Given the description of an element on the screen output the (x, y) to click on. 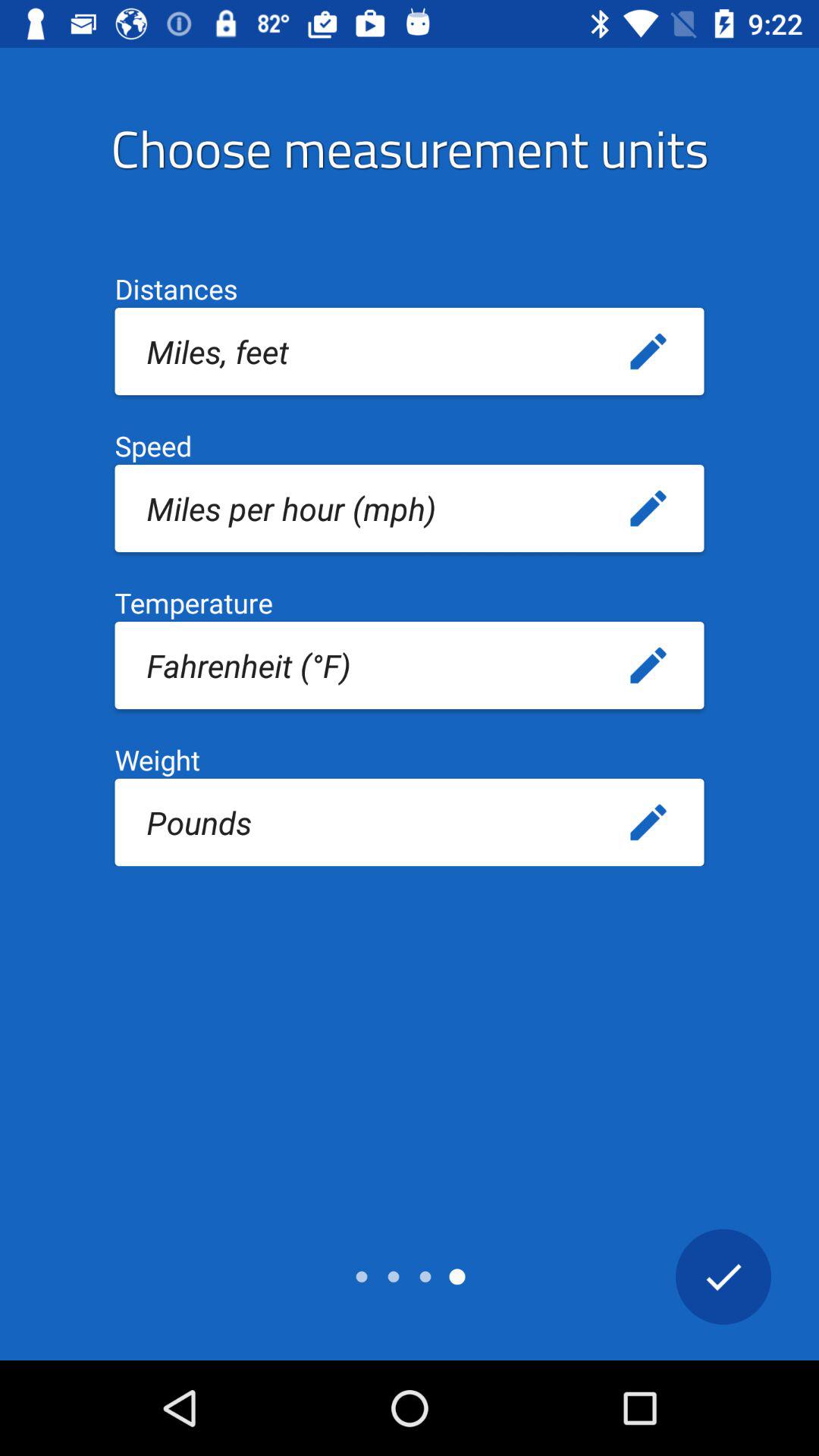
finished entering options (723, 1276)
